Given the description of an element on the screen output the (x, y) to click on. 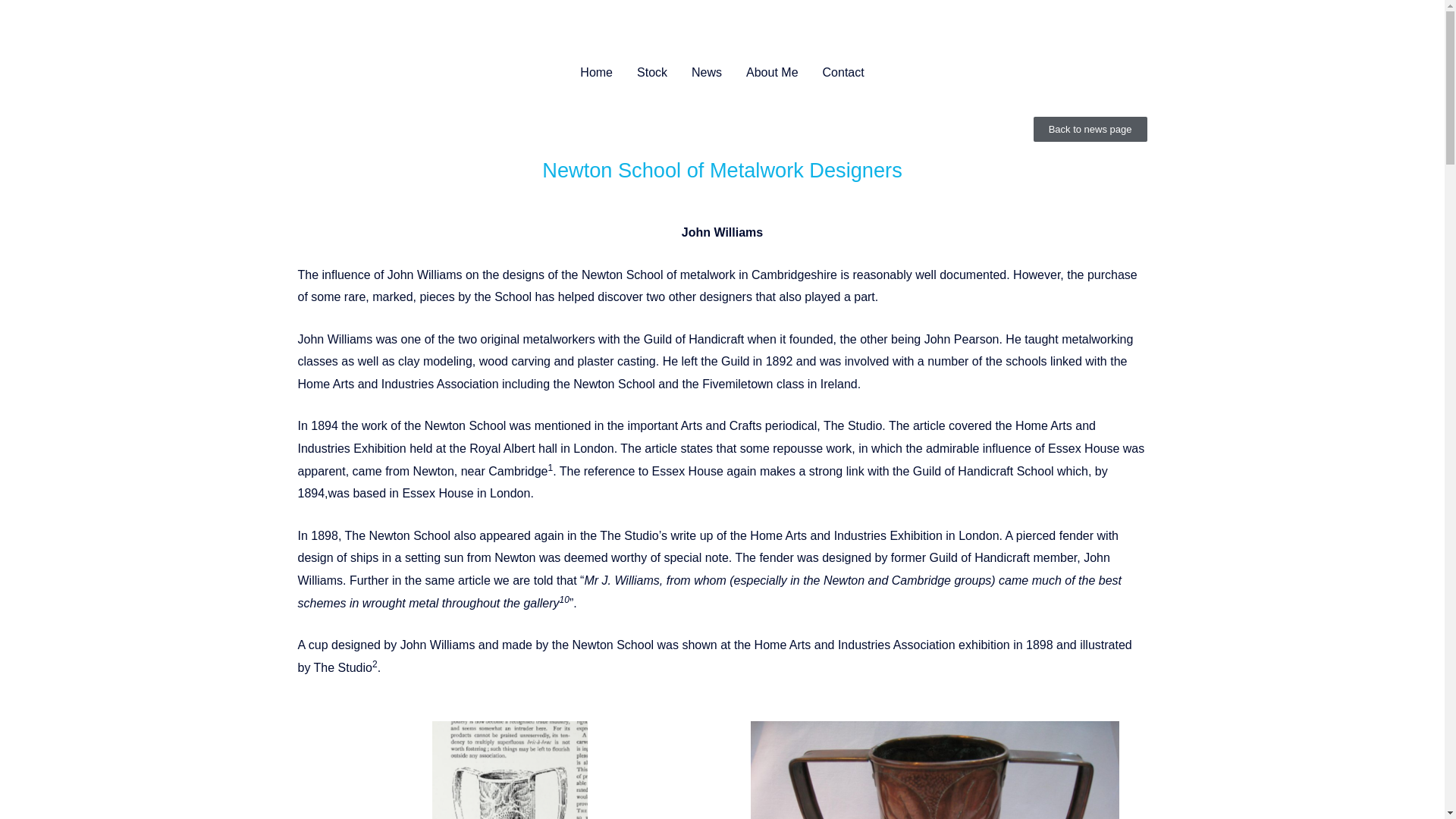
Back to news page (1090, 129)
Stock (651, 72)
Home (595, 72)
News (706, 72)
About Me (771, 72)
Contact (843, 72)
